Given the description of an element on the screen output the (x, y) to click on. 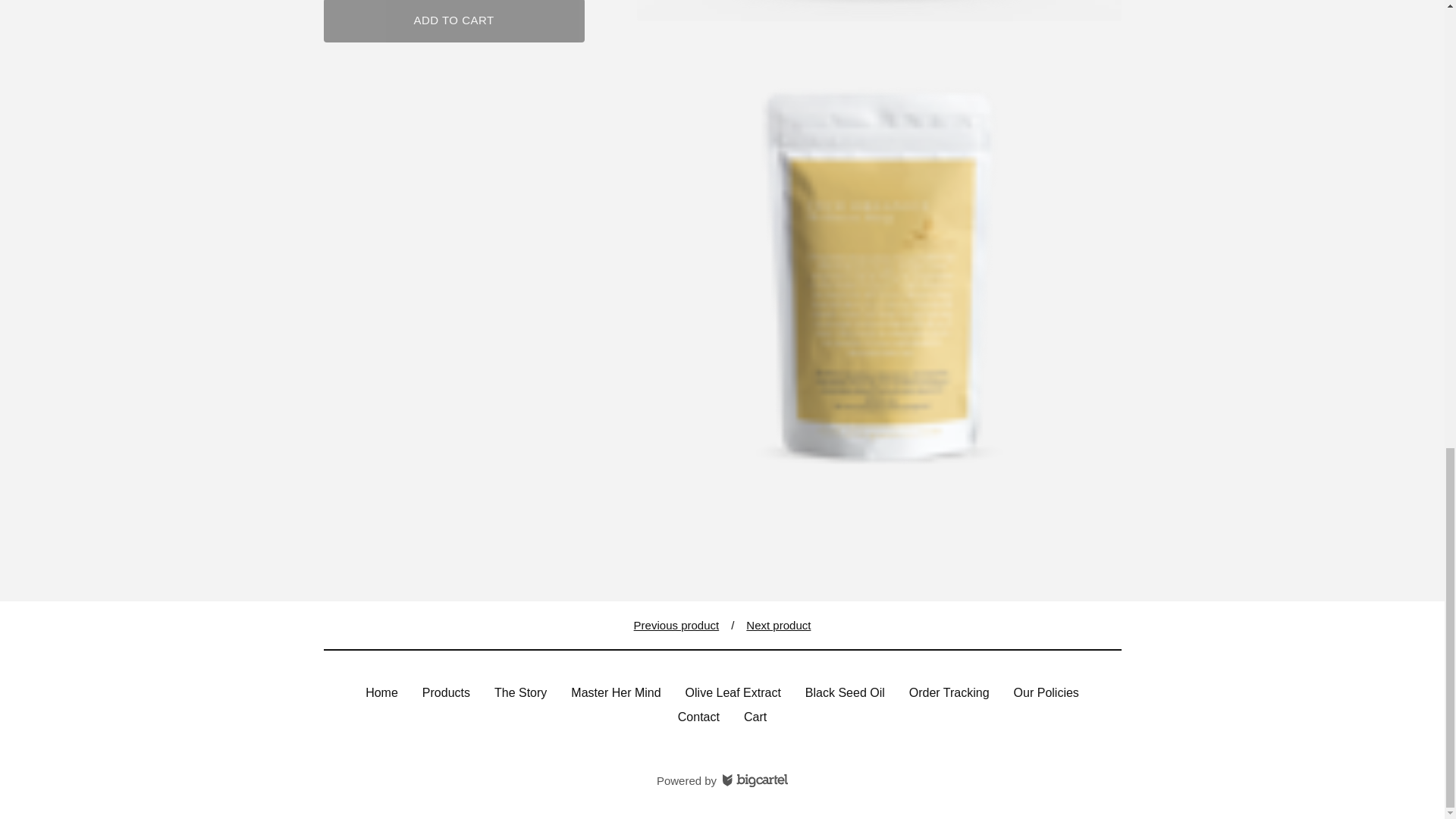
Home (381, 692)
View Order Tracking (948, 692)
Black Seed Oil (844, 692)
Master Her Mind (615, 692)
Olive Leaf Extract (732, 692)
Previous product (676, 625)
View Black Seed Oil (844, 692)
Products (445, 692)
View Next product (777, 625)
View The Story (520, 692)
